Given the description of an element on the screen output the (x, y) to click on. 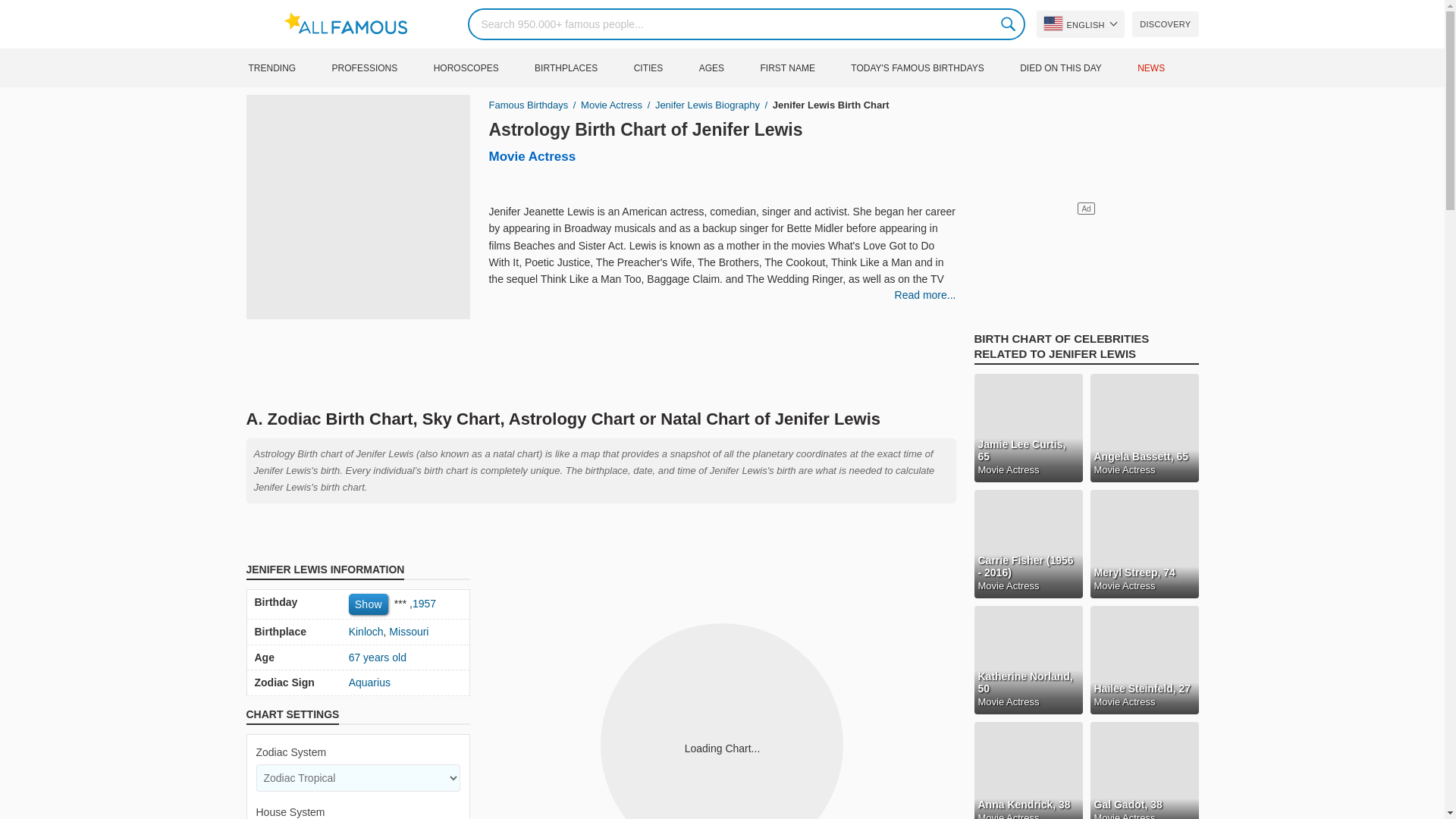
BIRTHPLACES (581, 67)
FIRST NAME (802, 67)
TRENDING (287, 67)
CITIES (664, 67)
NEWS (1166, 67)
PROFESSIONS (380, 67)
Astrology Birth Chart of Jenifer Lewis (644, 129)
DIED ON THIS DAY (1076, 67)
DISCOVERY (1165, 23)
TODAY'S FAMOUS BIRTHDAYS (932, 67)
Discover famous people (1165, 23)
HOROSCOPES (481, 67)
Advertisement (600, 360)
ENGLISH (1080, 23)
SEARCH (1008, 24)
